Given the description of an element on the screen output the (x, y) to click on. 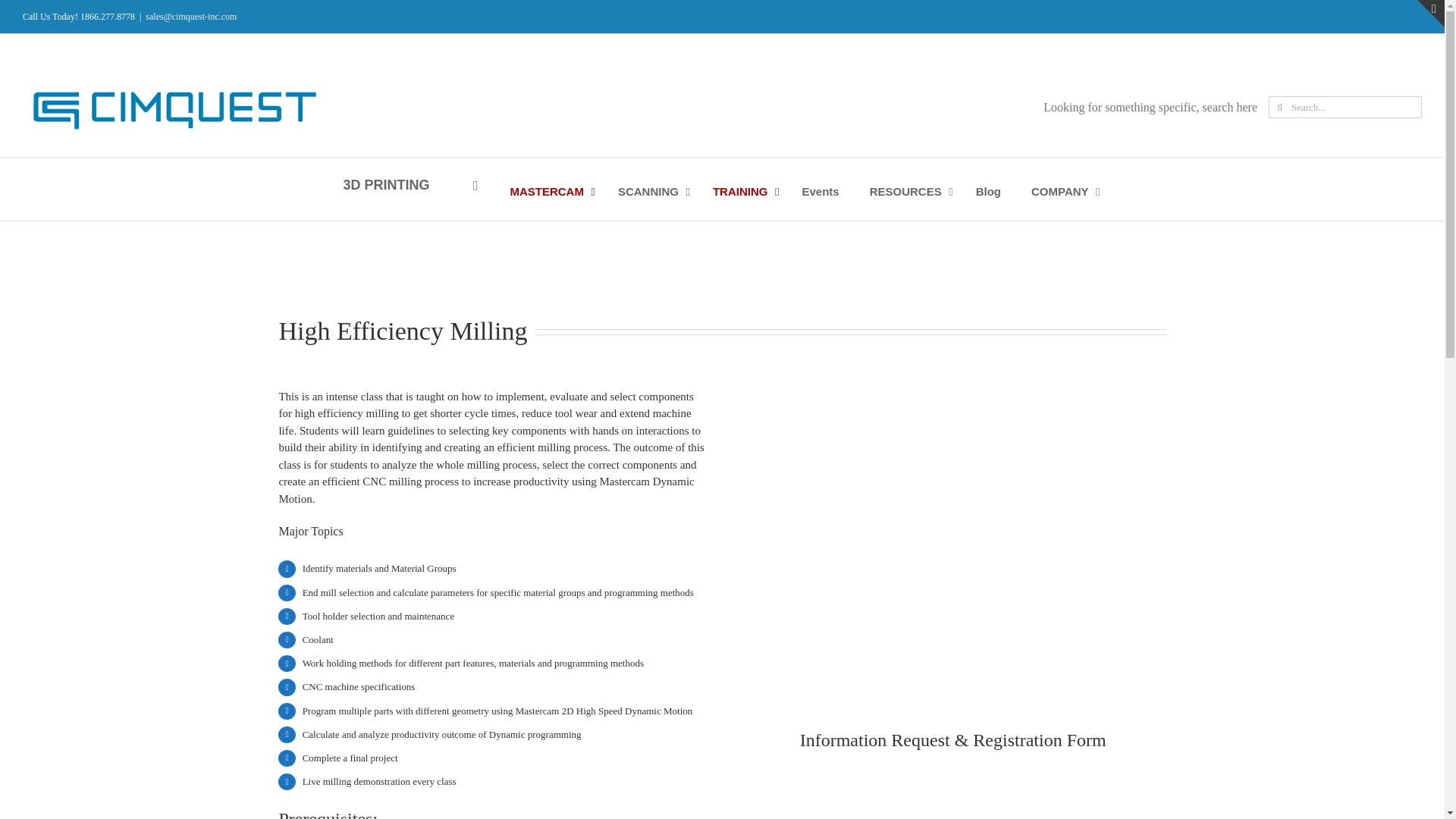
3D PRINTING (405, 185)
